Given the description of an element on the screen output the (x, y) to click on. 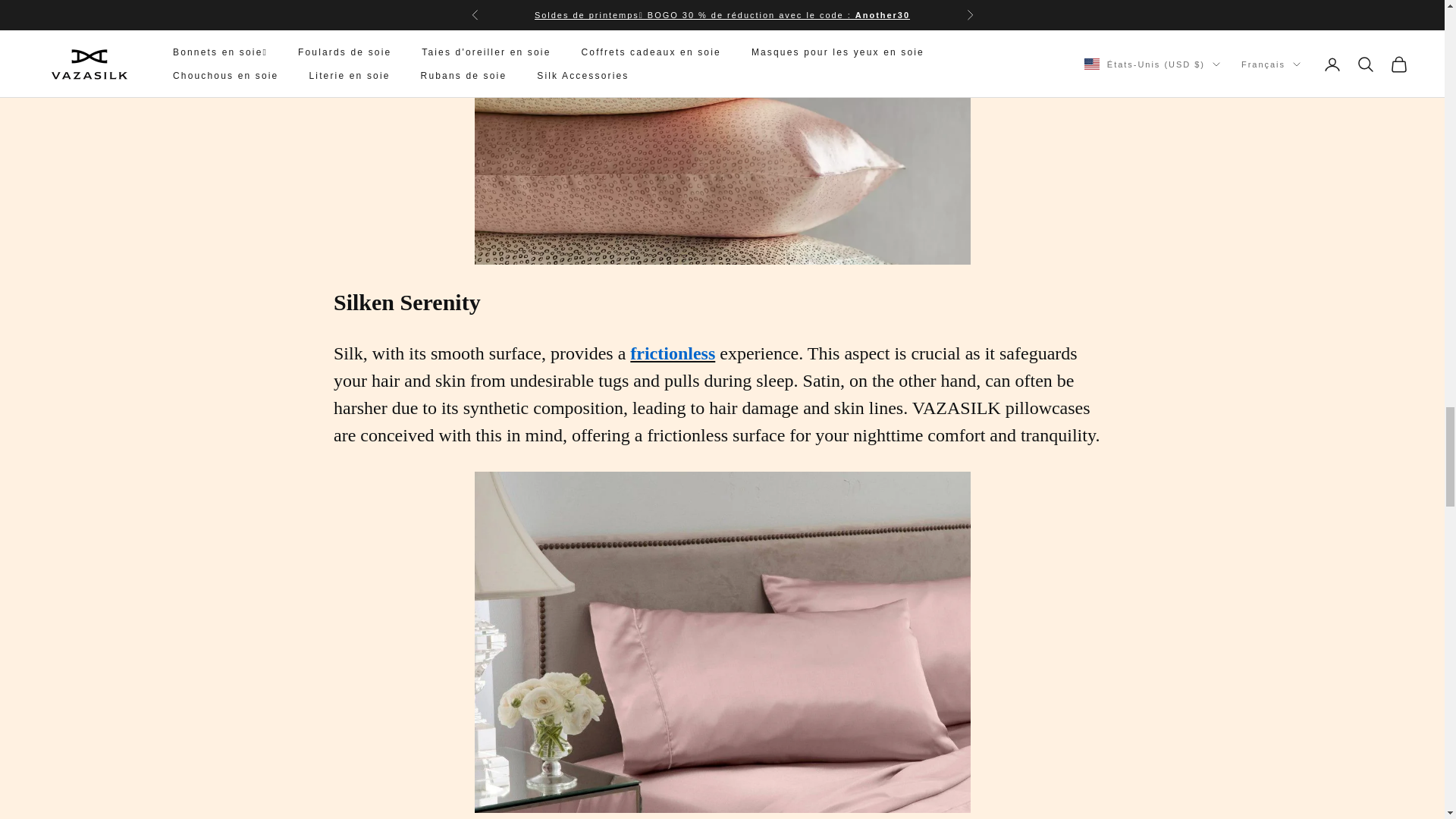
Design (722, 132)
